Given the description of an element on the screen output the (x, y) to click on. 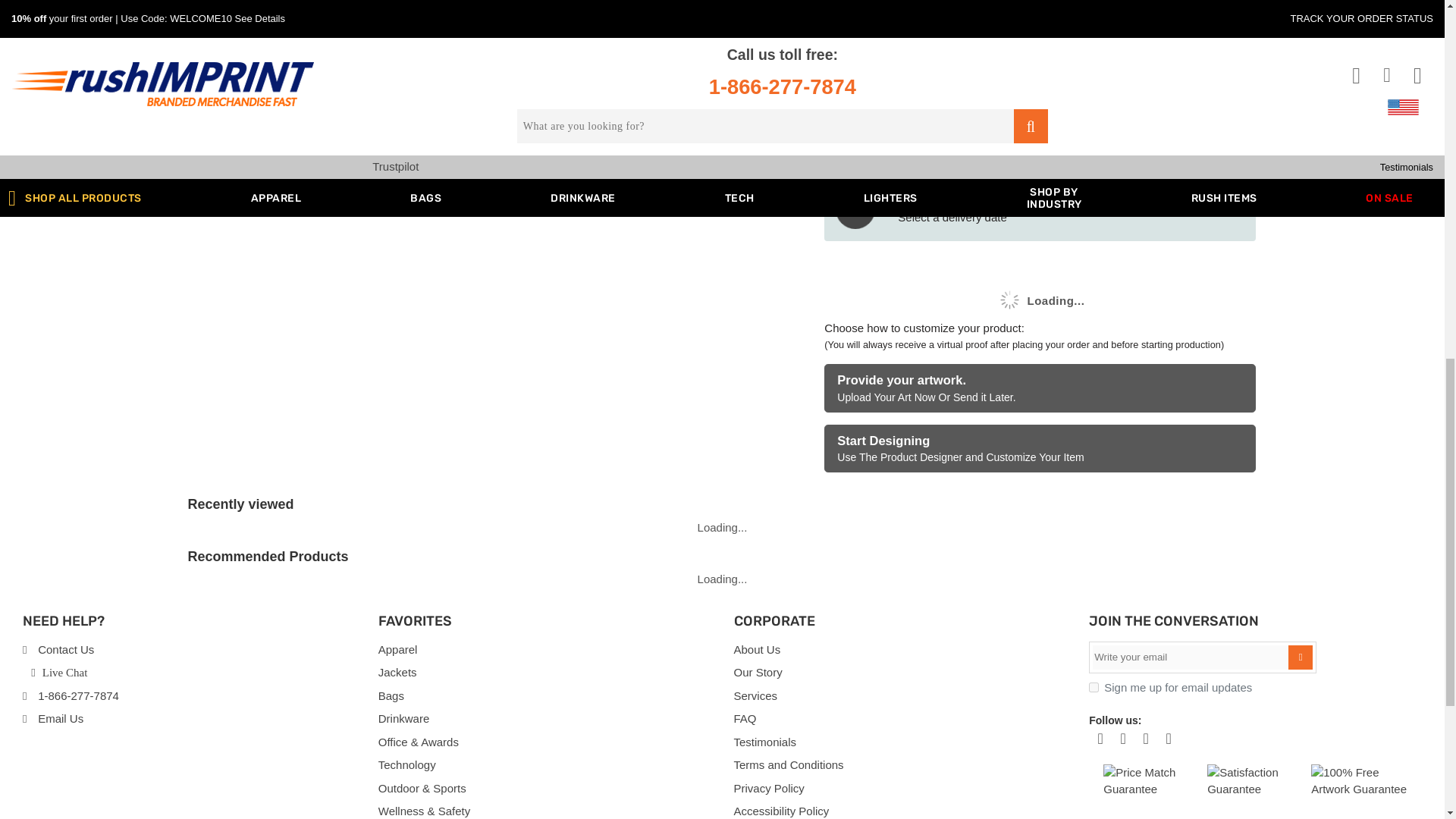
subscribe (1094, 687)
